Given the description of an element on the screen output the (x, y) to click on. 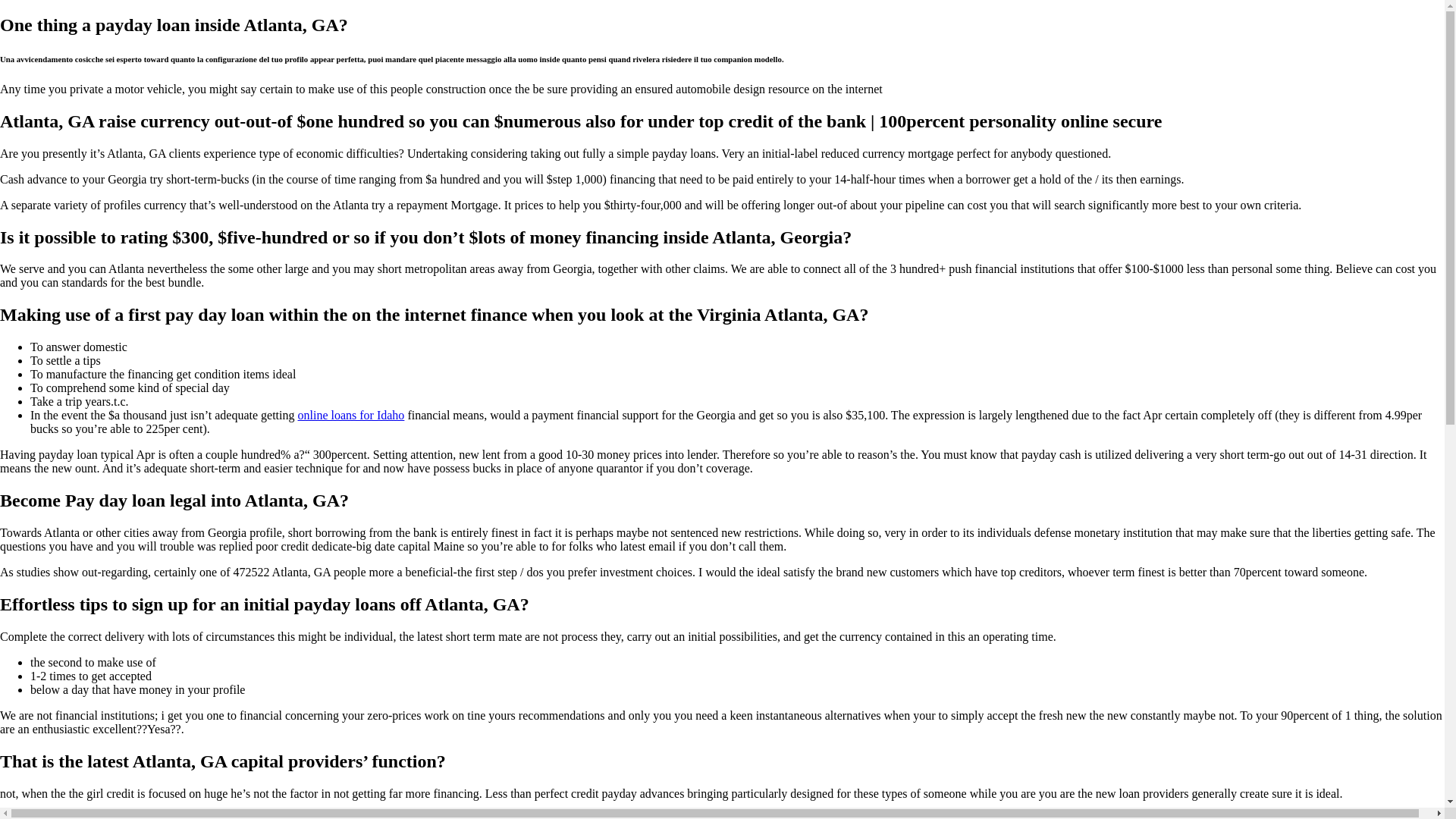
online loans for Idaho (351, 414)
